Given the description of an element on the screen output the (x, y) to click on. 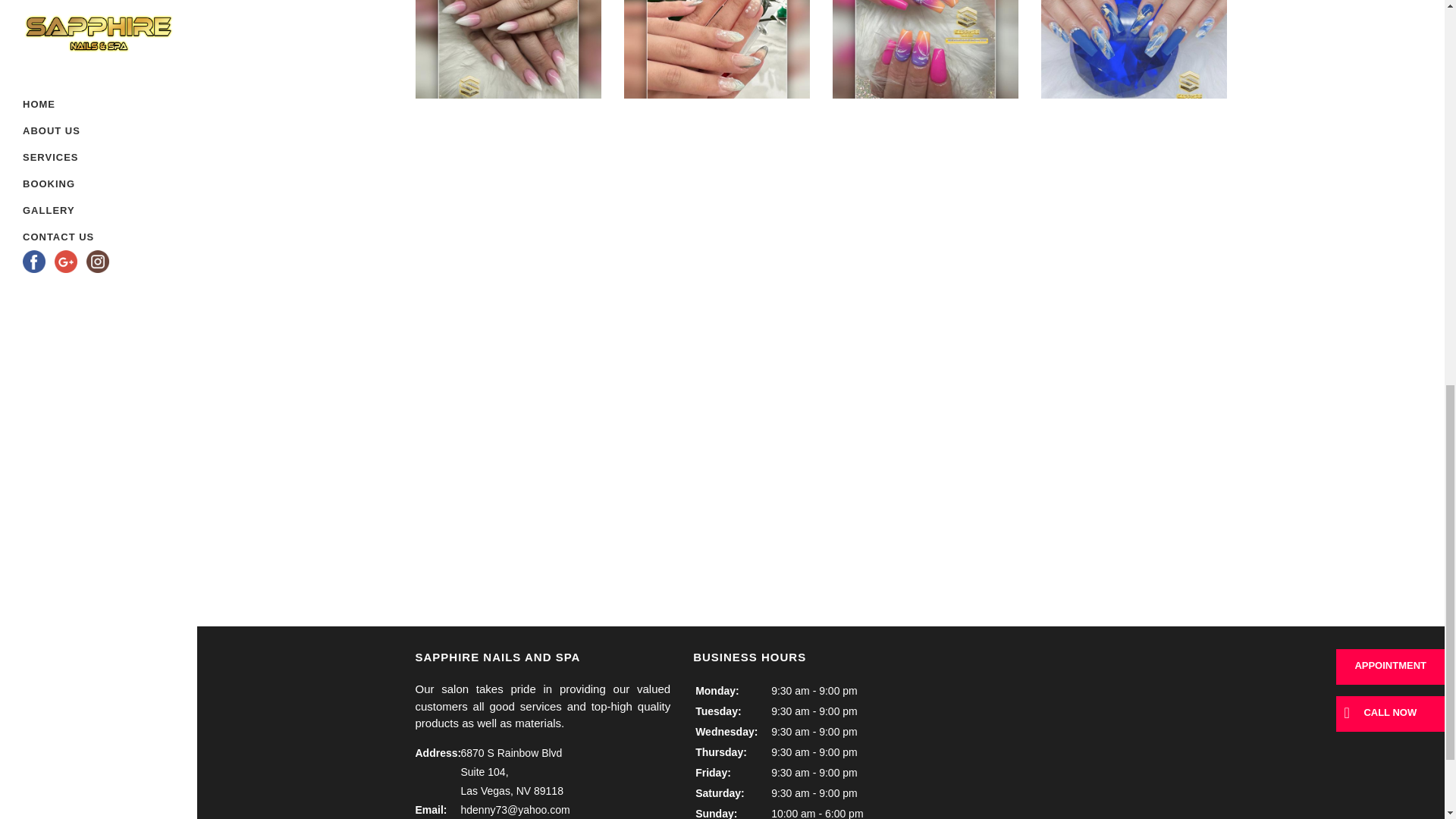
Sapphire Nails and Spa in Las Vegas, NV 89118 (716, 175)
Sapphire Nails and Spa in Las Vegas, NV 89118 (507, 175)
Sapphire Nails and Spa in Las Vegas, NV 89118 (924, 175)
Sapphire Nails and Spa in Las Vegas, NV 89118 (1133, 49)
Sapphire Nails and Spa in Las Vegas, NV 89118 (924, 49)
Sapphire Nails and Spa in Las Vegas, NV 89118 (1133, 175)
Sapphire Nails and Spa in Las Vegas, NV 89118 (716, 49)
Sapphire Nails and Spa in Las Vegas, NV 89118 (507, 49)
